Given the description of an element on the screen output the (x, y) to click on. 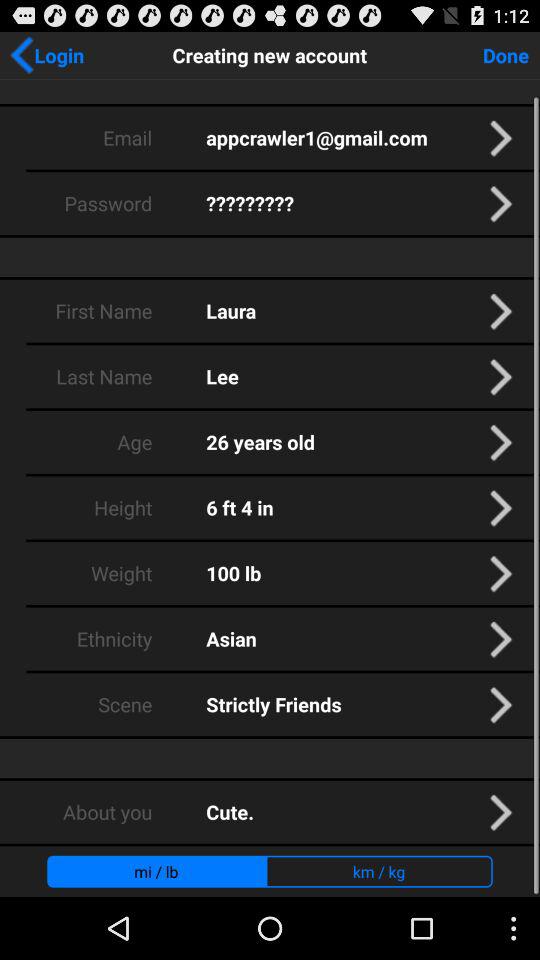
turn off the km / kg item (378, 871)
